Given the description of an element on the screen output the (x, y) to click on. 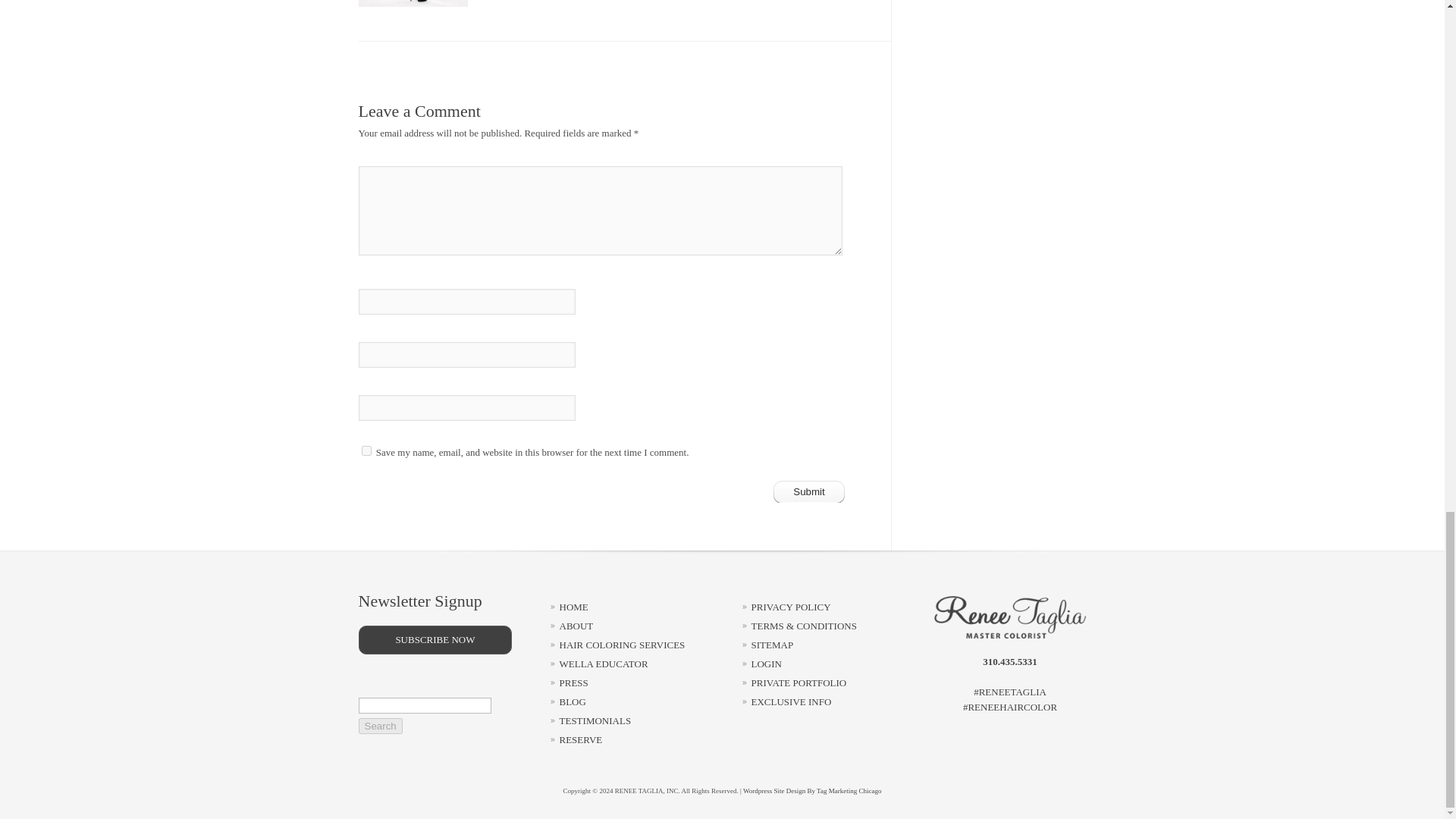
SUBSCRIBE NOW (435, 639)
yes (366, 450)
Submit (809, 491)
Search (379, 725)
Submit (809, 491)
